Given the description of an element on the screen output the (x, y) to click on. 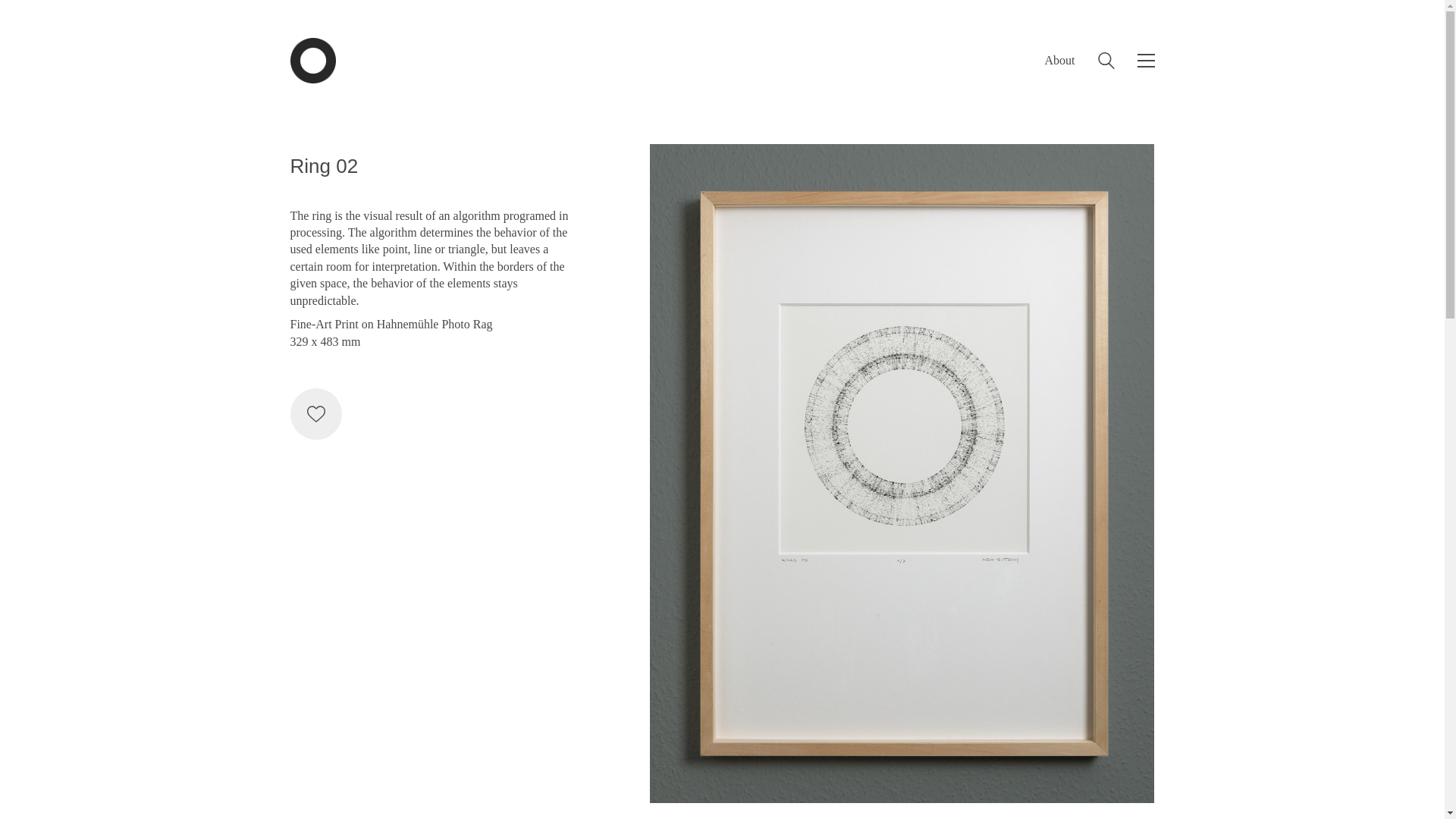
About (1060, 59)
processing (314, 232)
LinkedIn (1101, 773)
Instagram (1139, 773)
